Given the description of an element on the screen output the (x, y) to click on. 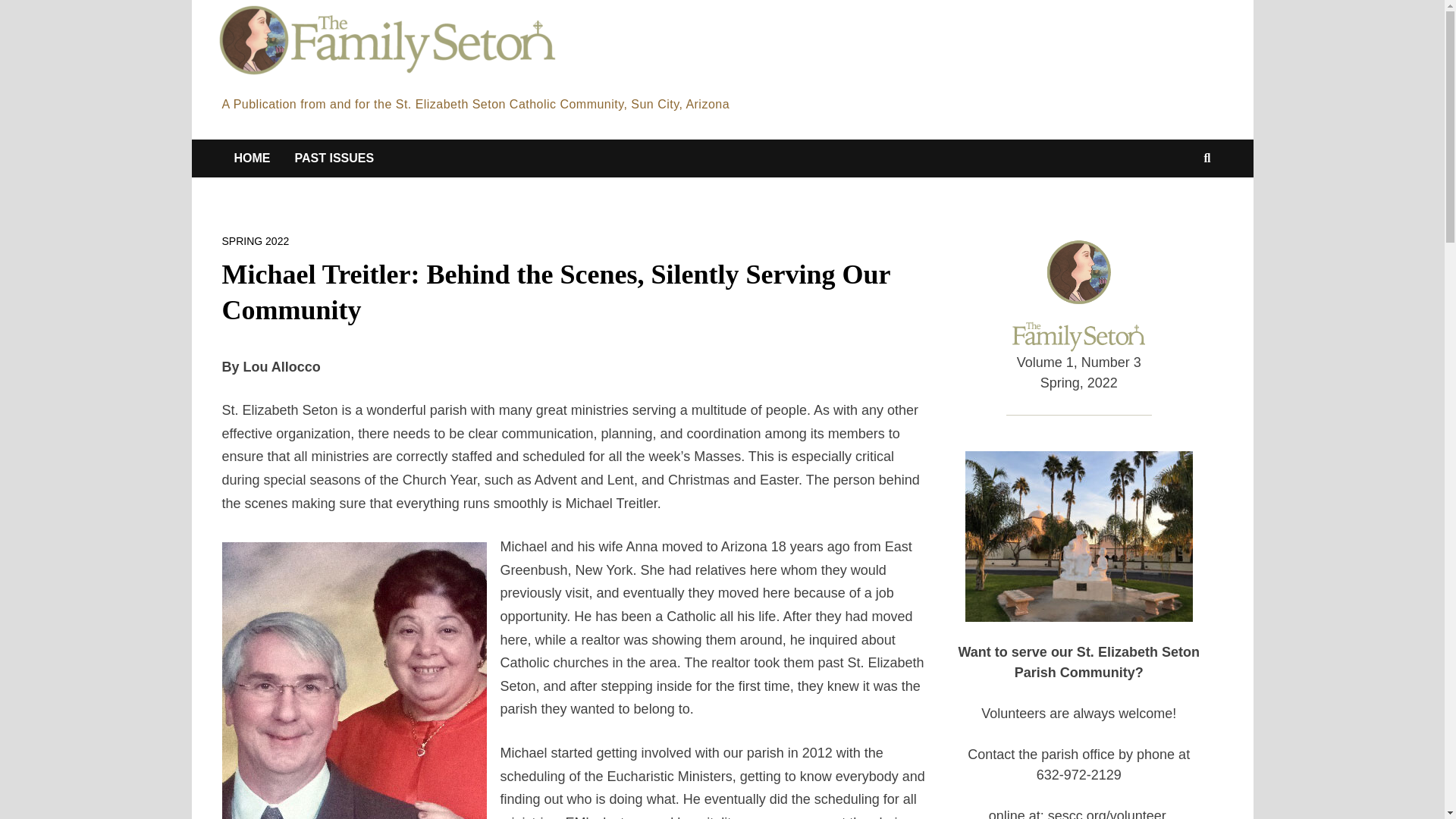
PAST ISSUES (333, 158)
SPRING 2022 (254, 241)
HOME (251, 158)
